Given the description of an element on the screen output the (x, y) to click on. 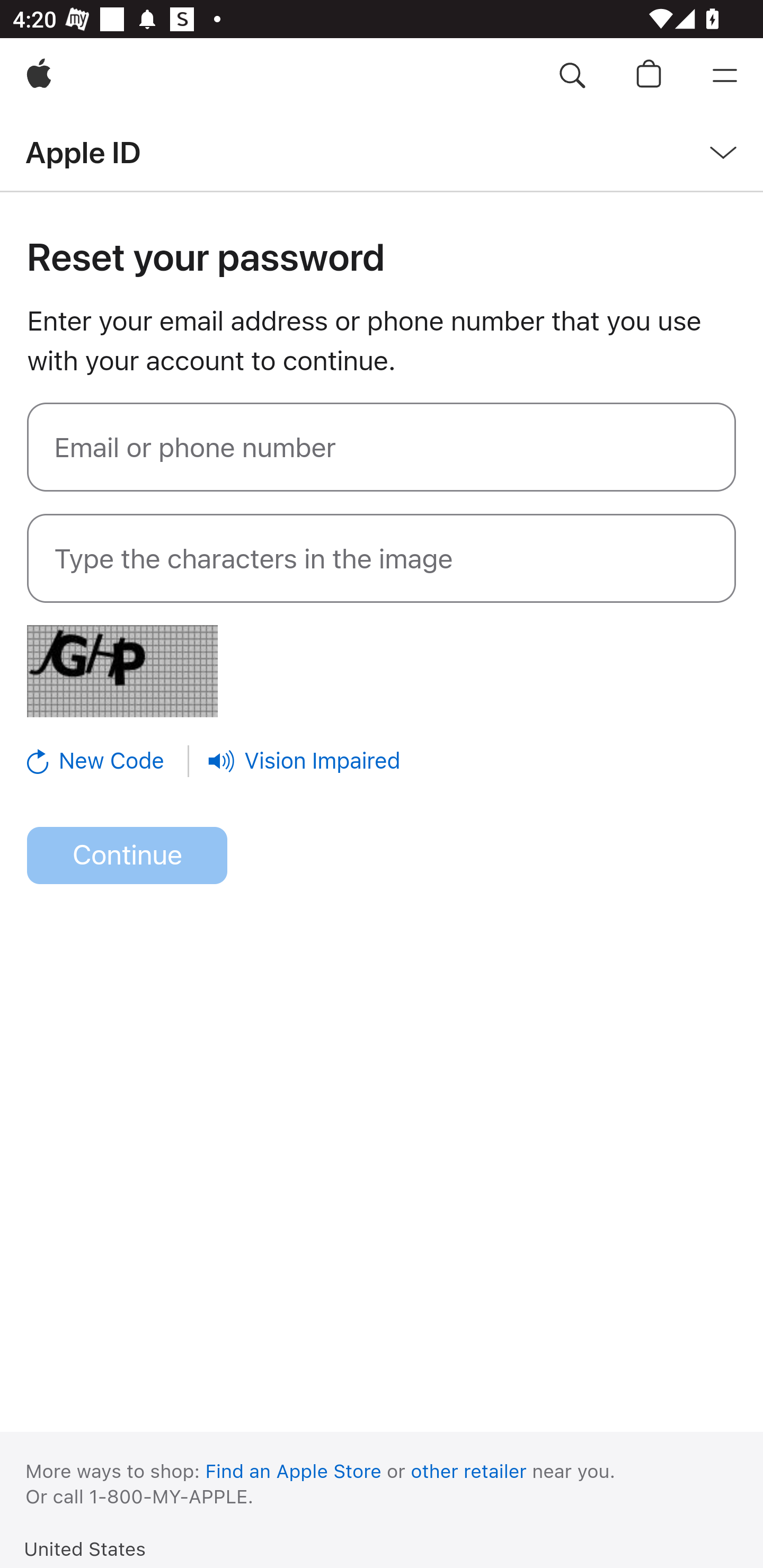
Apple (38, 75)
Search apple.com (572, 75)
Shopping Bag (648, 75)
Menu (724, 75)
Apple ID (83, 151)
 New Code (108, 760)
 Vision Impaired (304, 760)
Continue (126, 855)
Find an Apple Store (293, 1470)
other retailer (468, 1470)
United States (84, 1548)
